Given the description of an element on the screen output the (x, y) to click on. 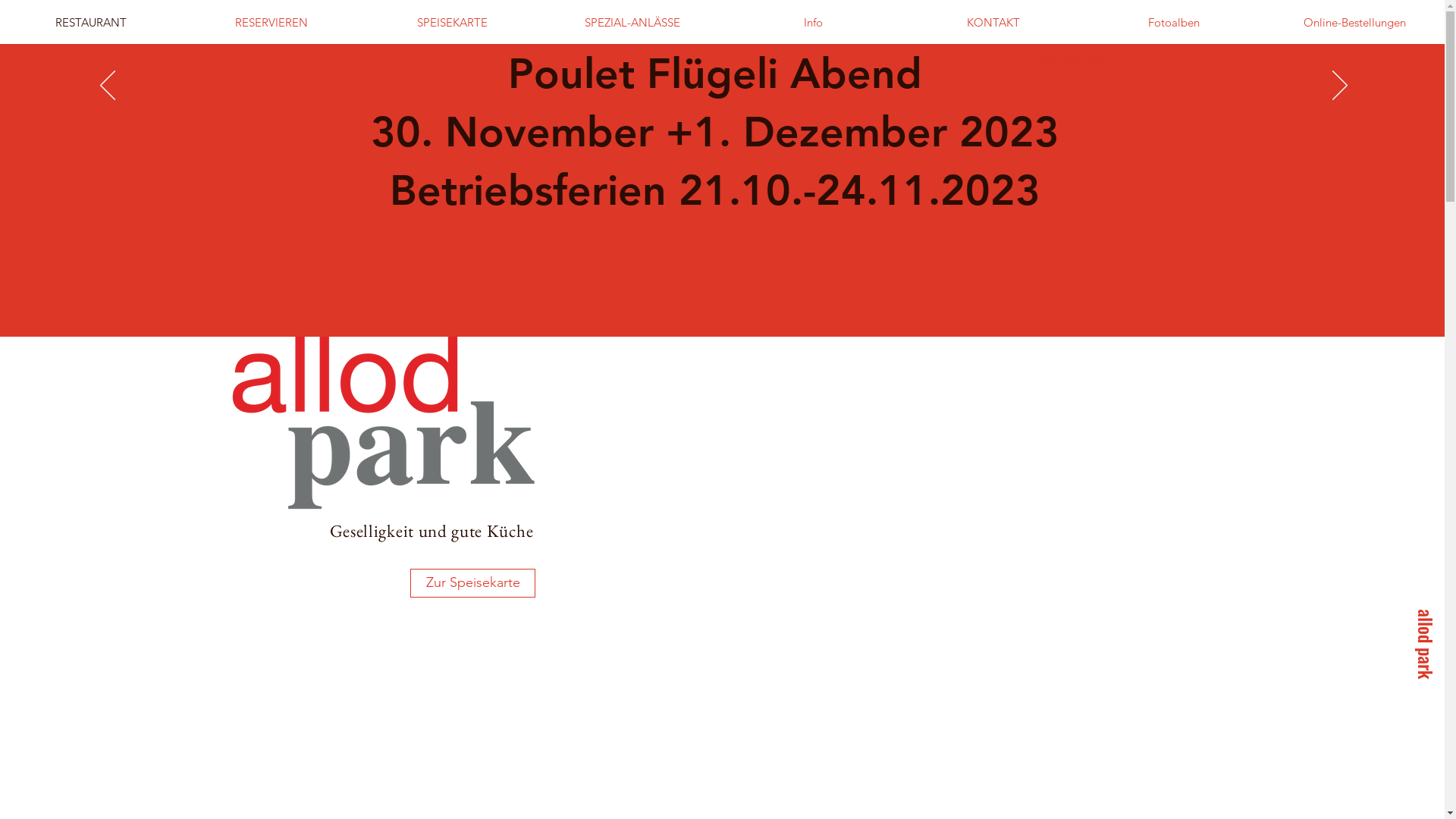
KONTAKT Element type: text (993, 21)
Anmelden Element type: text (1039, 57)
RESERVIEREN Element type: text (271, 21)
Online-Bestellungen Element type: text (1354, 21)
Zur Speisekarte Element type: text (472, 582)
Info Element type: text (812, 21)
Restaurant Social Bar Element type: hover (27, 699)
Fotoalben Element type: text (1173, 21)
RESTAURANT Element type: text (90, 21)
SPEISEKARTE Element type: text (451, 21)
Embedded Content Element type: hover (1081, 440)
